Given the description of an element on the screen output the (x, y) to click on. 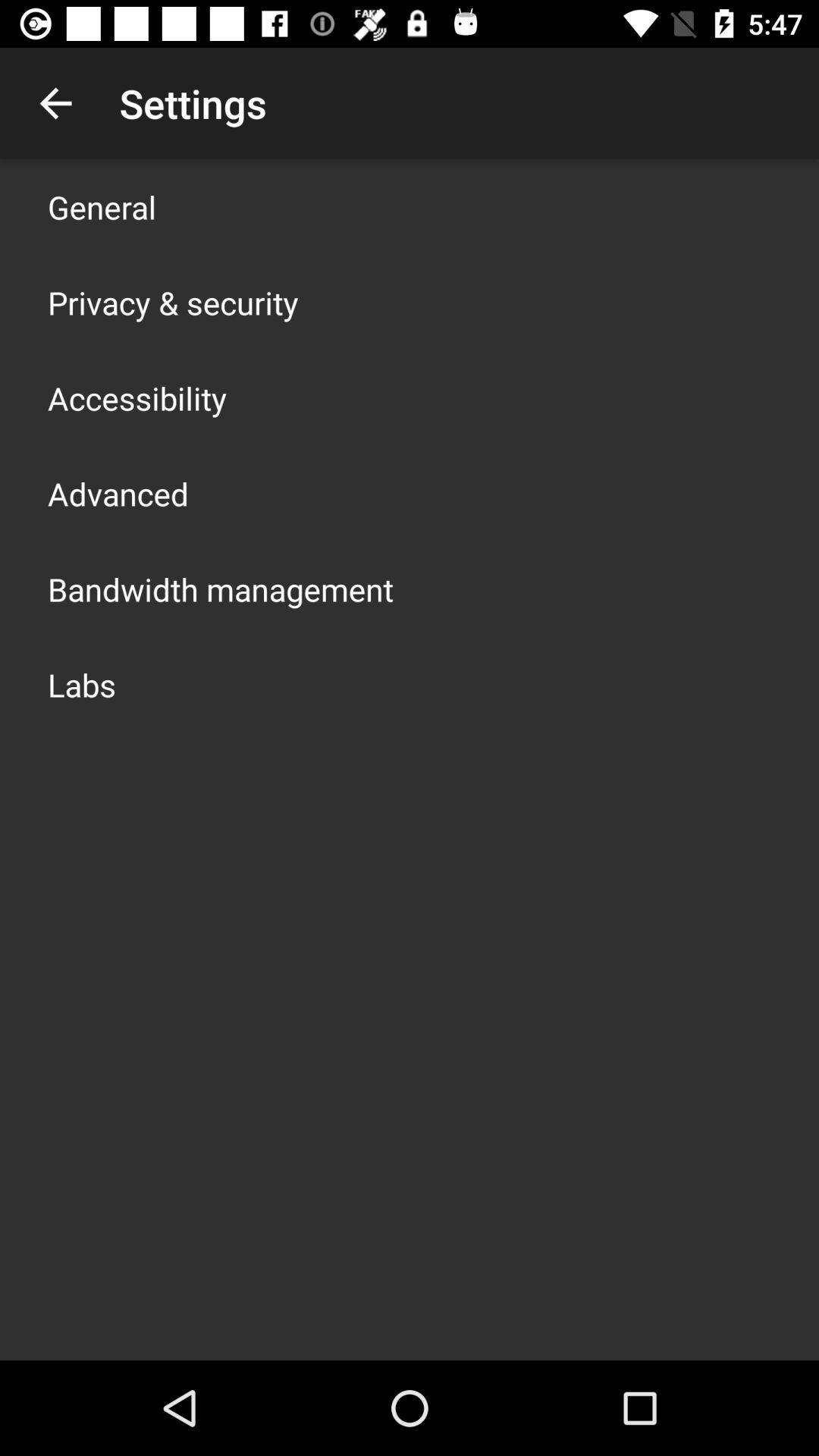
swipe until labs item (81, 684)
